Given the description of an element on the screen output the (x, y) to click on. 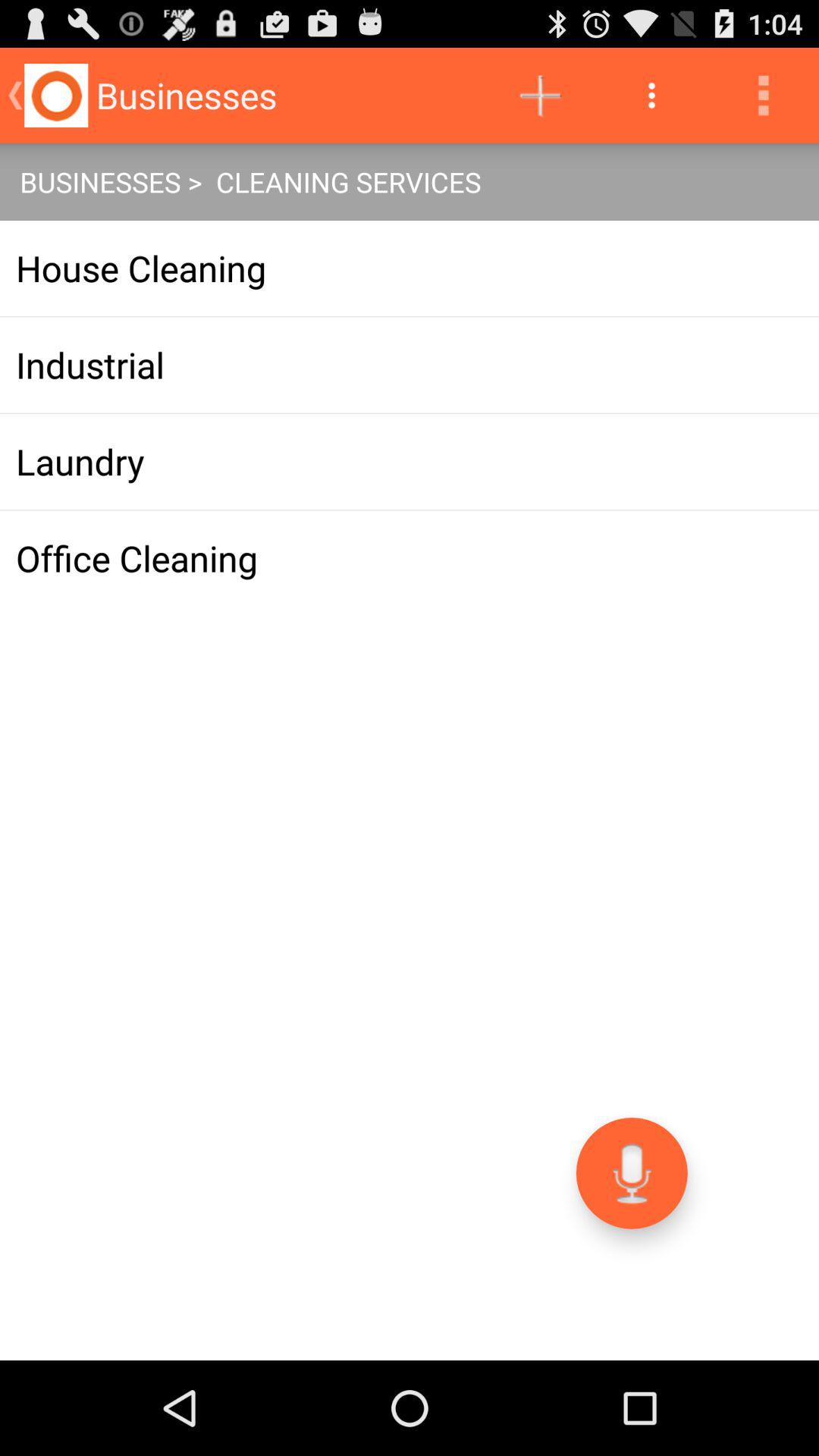
click icon at the bottom right corner (631, 1173)
